Given the description of an element on the screen output the (x, y) to click on. 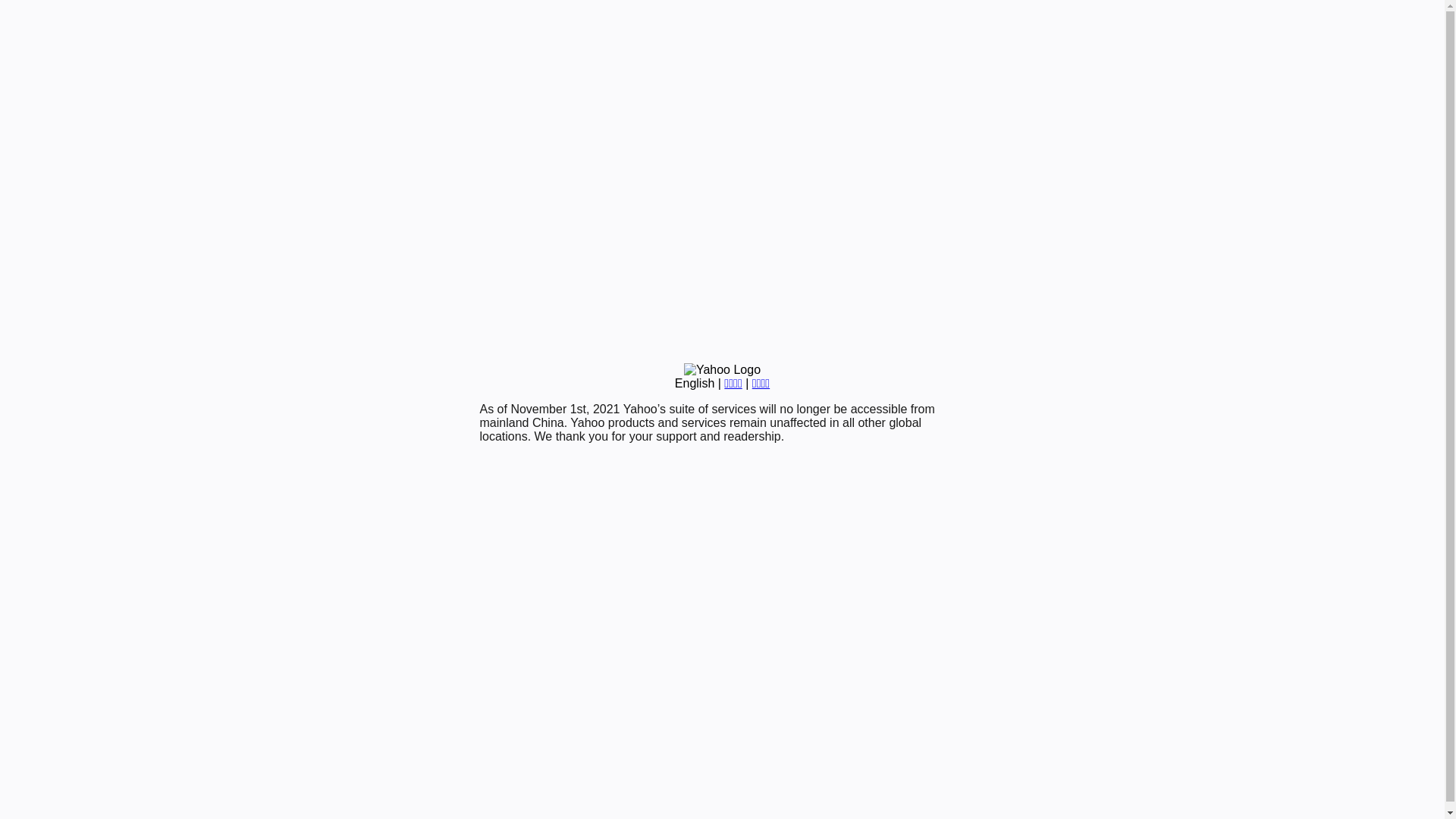
English Element type: text (694, 382)
